Given the description of an element on the screen output the (x, y) to click on. 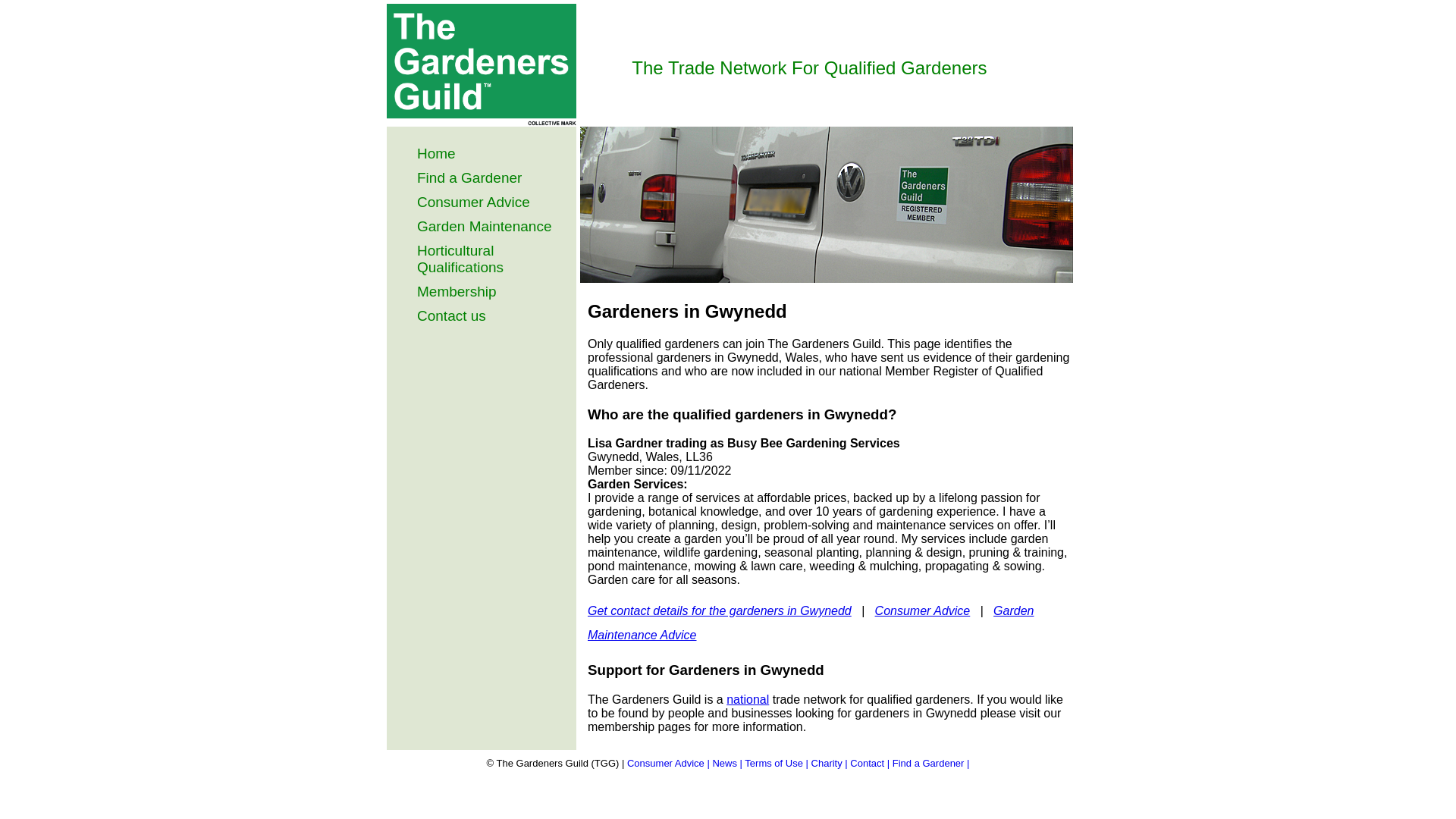
Home (435, 153)
Garden Maintenance Advice (810, 622)
national (747, 698)
Get contact details for the gardeners in Gwynedd (719, 610)
Contact us (451, 315)
Consumer Advice (472, 201)
Garden Maintenance (483, 226)
Membership (456, 291)
Consumer Advice (923, 610)
Horticultural Qualifications (459, 258)
Find a Gardener (468, 177)
